Given the description of an element on the screen output the (x, y) to click on. 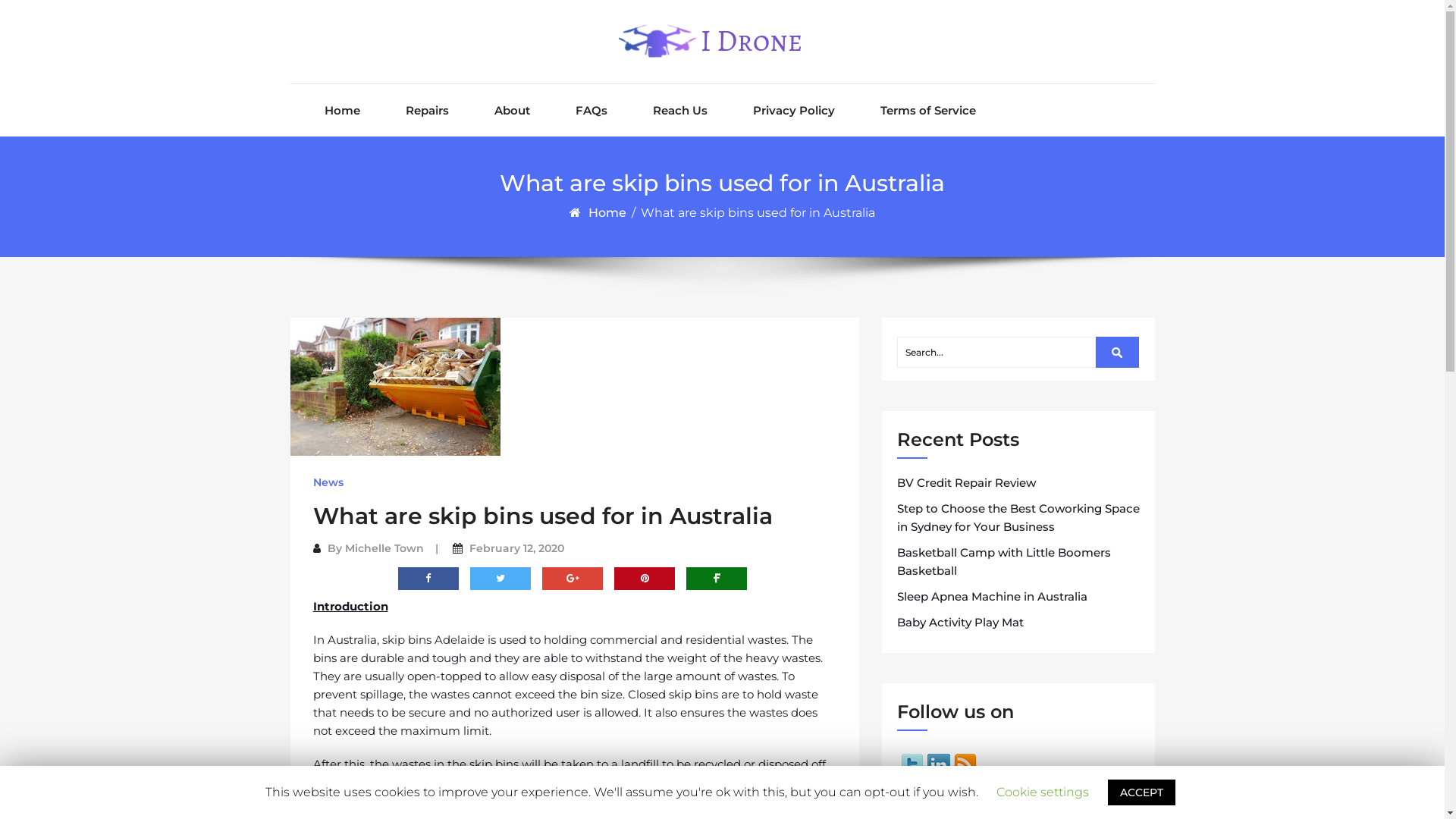
Terms of Service Element type: text (927, 110)
BV Credit Repair Review Element type: text (965, 482)
skip bins Adelaide Element type: text (433, 639)
February 12, 2020 Element type: text (515, 548)
Cookie settings Element type: text (1042, 791)
FAQs Element type: text (590, 110)
News Element type: text (327, 481)
Basketball Camp with Little Boomers Basketball Element type: text (1017, 561)
Search Element type: text (1117, 351)
Home Element type: text (342, 110)
ACCEPT Element type: text (1141, 792)
Reach Us Element type: text (679, 110)
Repairs Element type: text (426, 110)
Privacy Policy Element type: text (793, 110)
Home Element type: text (608, 212)
Michelle Town Element type: text (383, 548)
Baby Activity Play Mat Element type: text (959, 622)
Sleep Apnea Machine in Australia Element type: text (991, 596)
About Element type: text (512, 110)
